Given the description of an element on the screen output the (x, y) to click on. 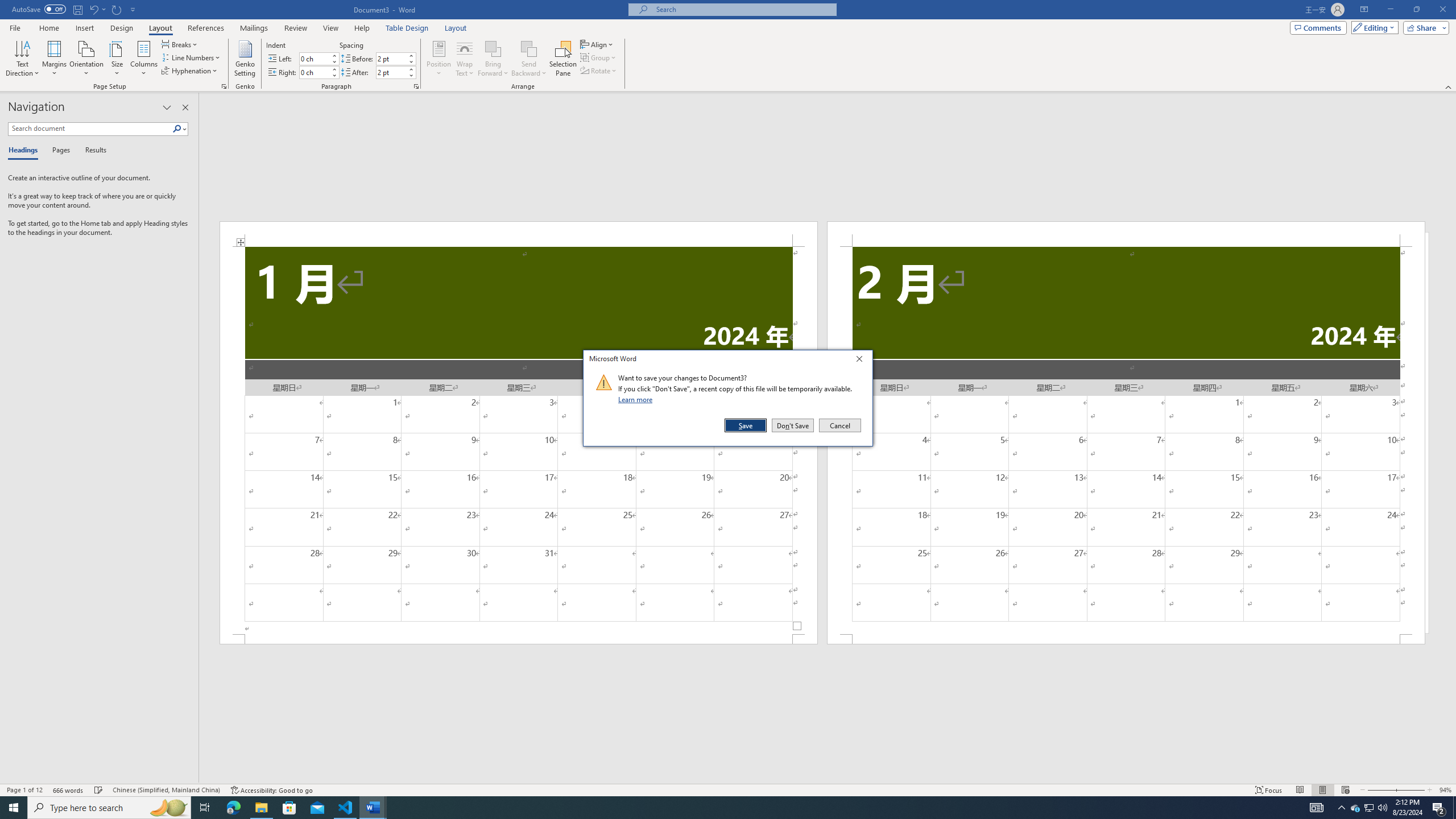
Learn more (636, 399)
Running applications (717, 807)
Footer -Section 2- (1126, 638)
Columns (143, 58)
Indent Right (314, 72)
Align (597, 44)
Text Direction (22, 58)
